Given the description of an element on the screen output the (x, y) to click on. 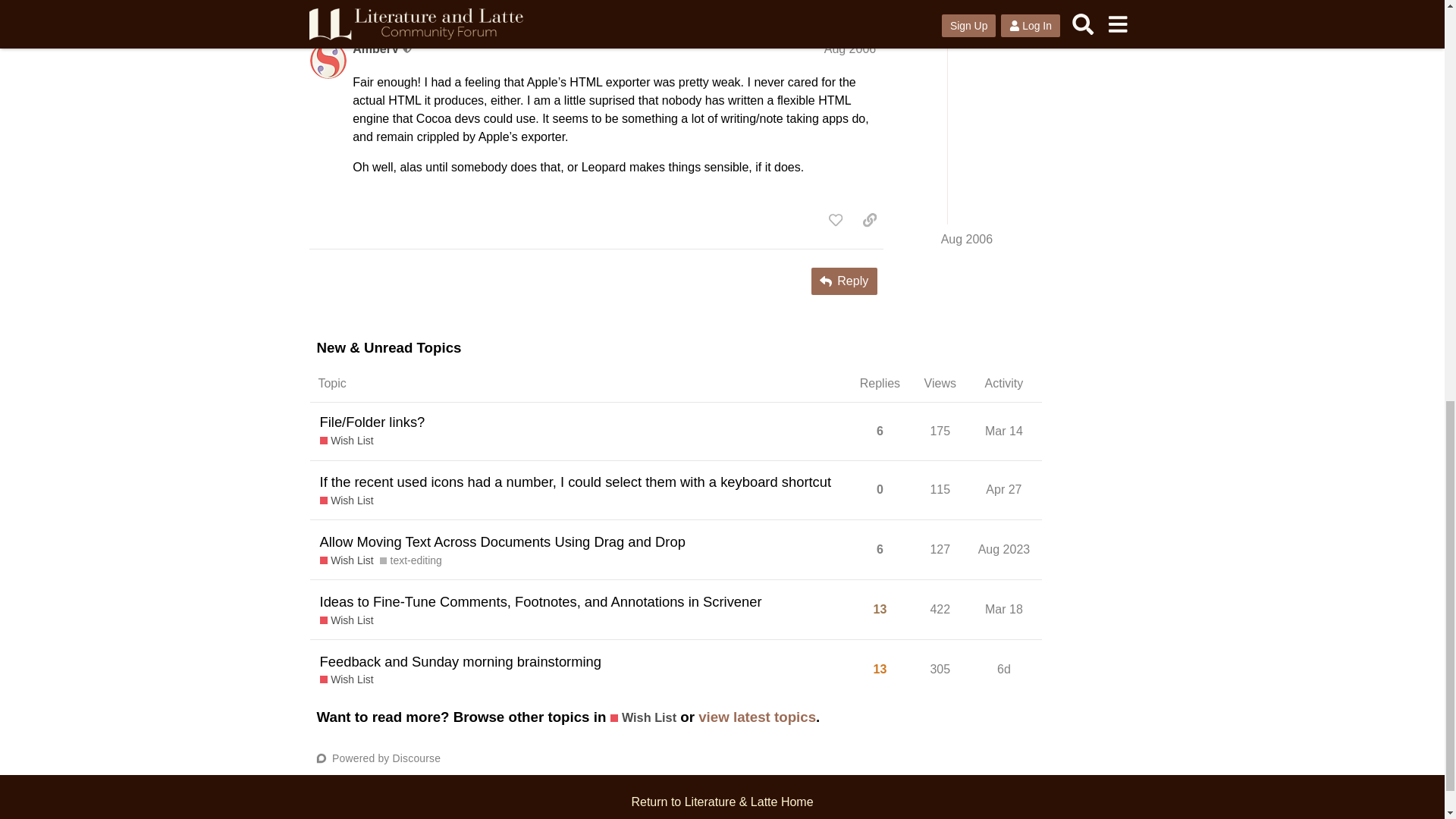
6 (879, 431)
Wish List (347, 440)
Aug 2006 (850, 48)
Reply (843, 280)
AmberV (375, 49)
Mar 14 (1003, 430)
